Given the description of an element on the screen output the (x, y) to click on. 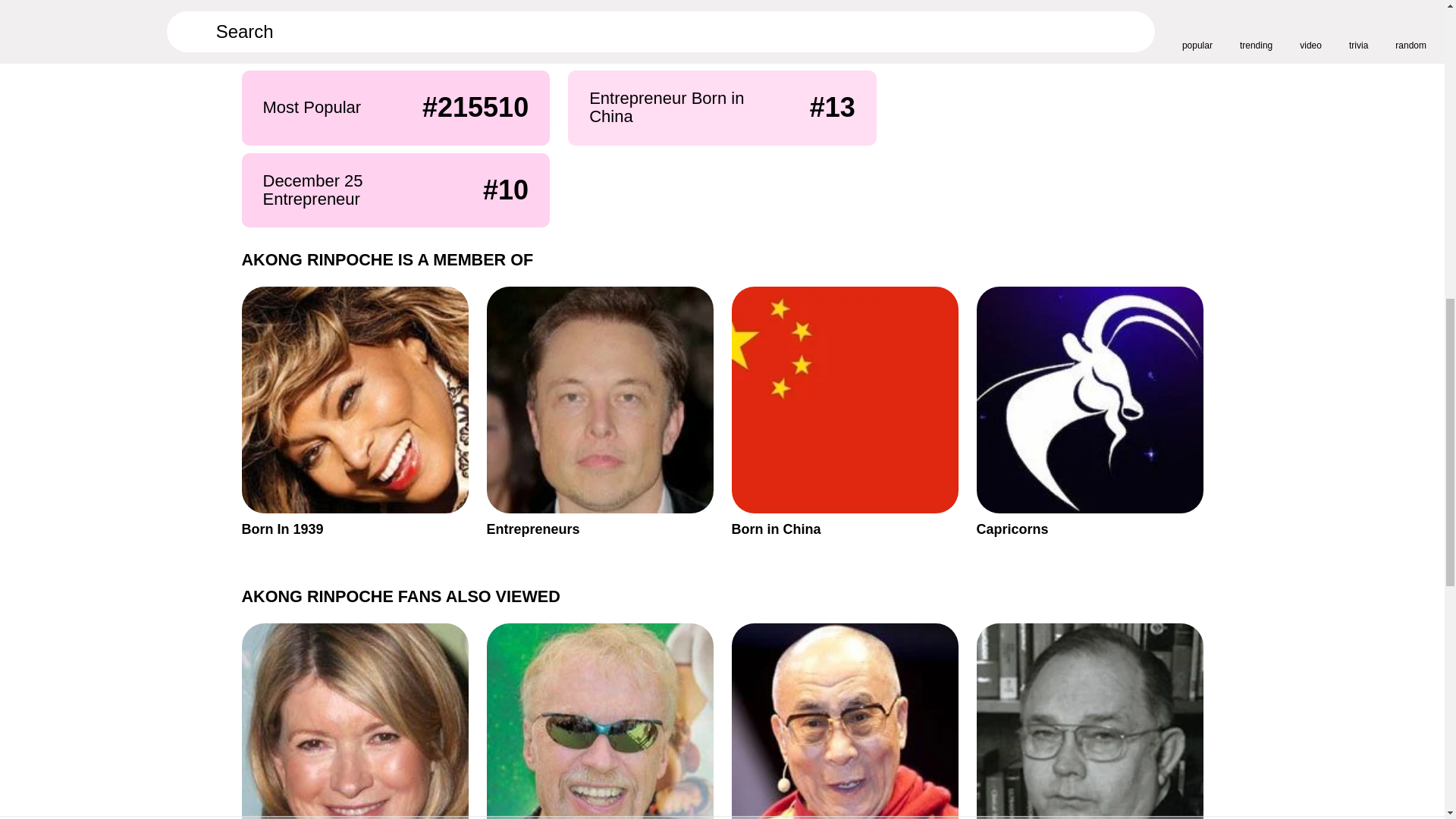
Born In 1939 (354, 411)
Born in China (1090, 721)
Entrepreneurs (844, 411)
Capricorns (599, 411)
